Given the description of an element on the screen output the (x, y) to click on. 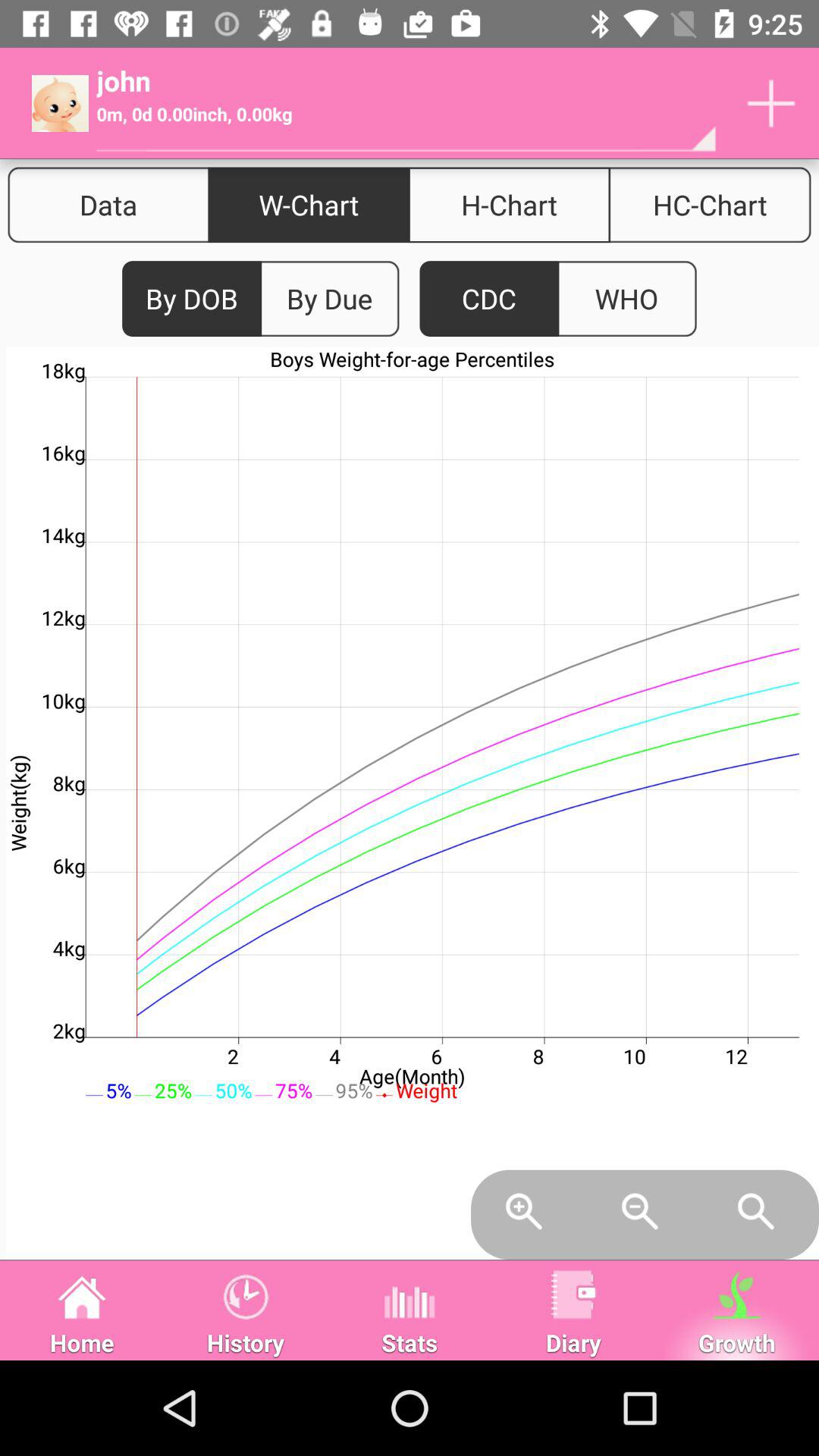
select item below w-chart icon (329, 298)
